Given the description of an element on the screen output the (x, y) to click on. 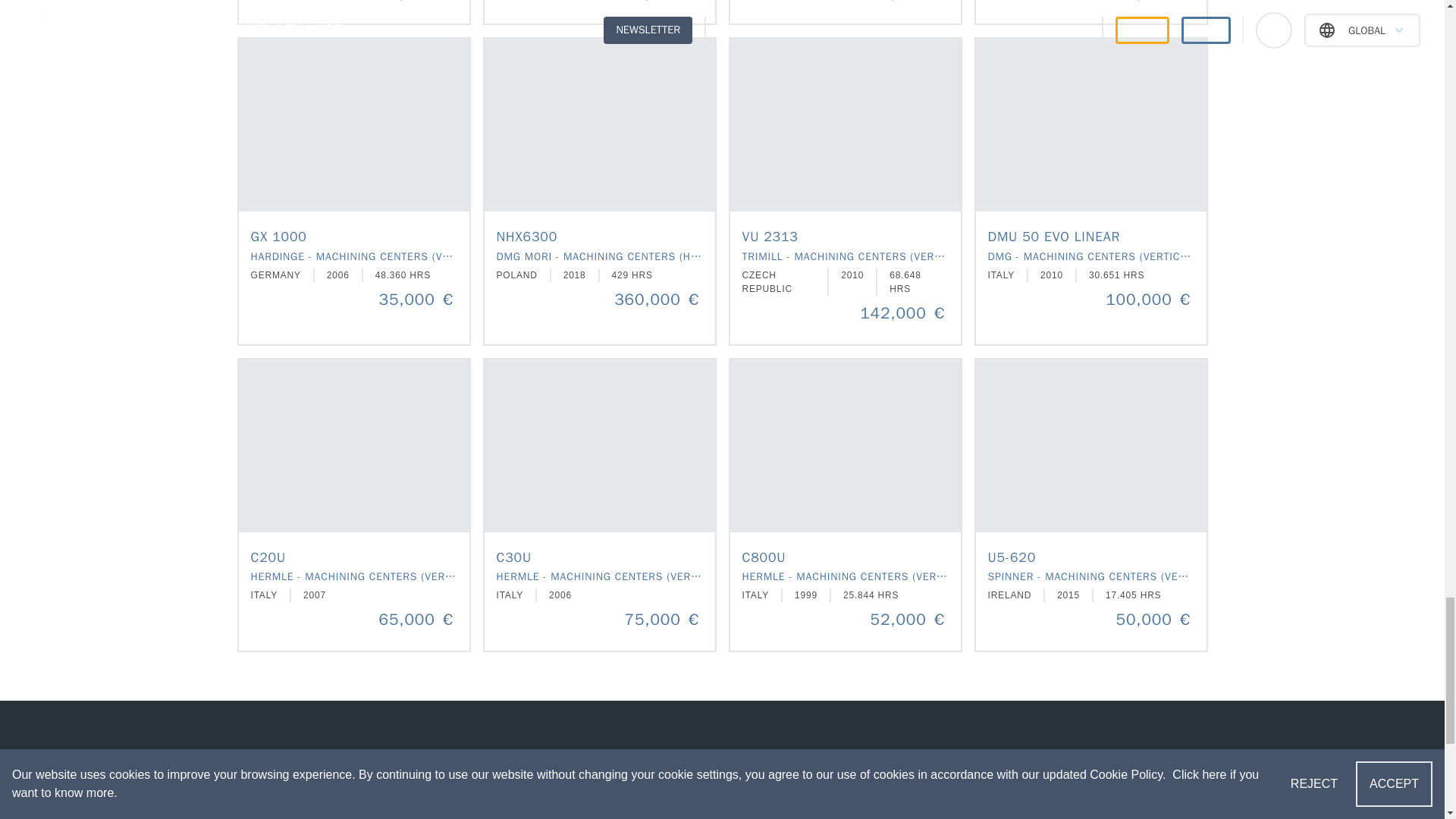
SIGN UP FOR OUR NEWSLETTER! (722, 771)
